Given the description of an element on the screen output the (x, y) to click on. 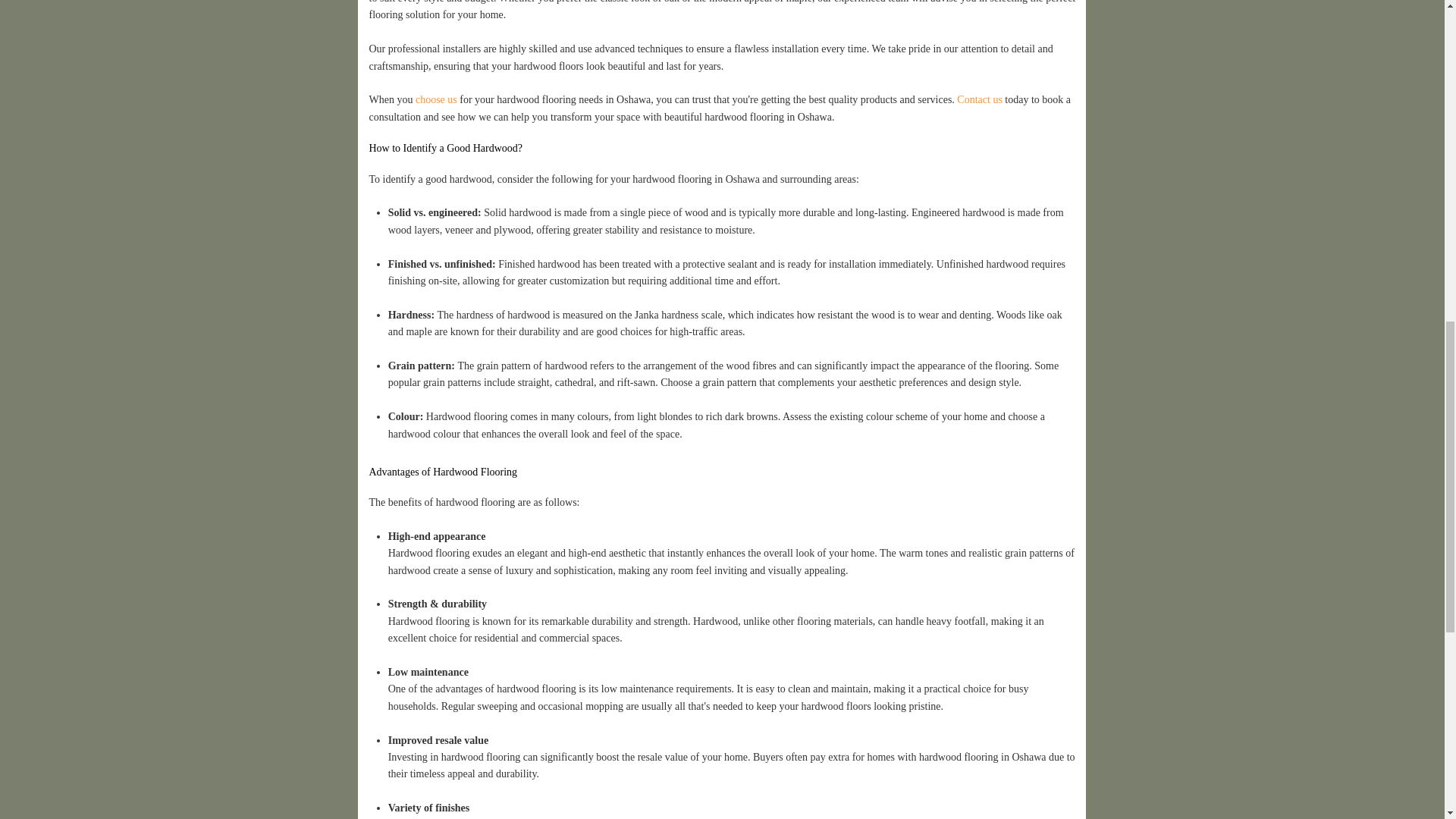
Contact us (979, 99)
choose us (437, 99)
